Given the description of an element on the screen output the (x, y) to click on. 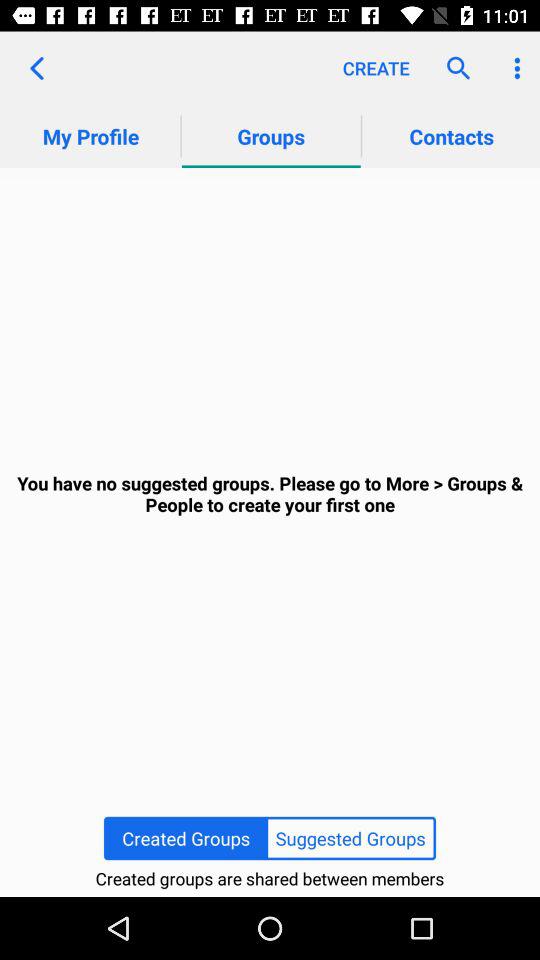
tap the app to the left of the groups icon (36, 68)
